Given the description of an element on the screen output the (x, y) to click on. 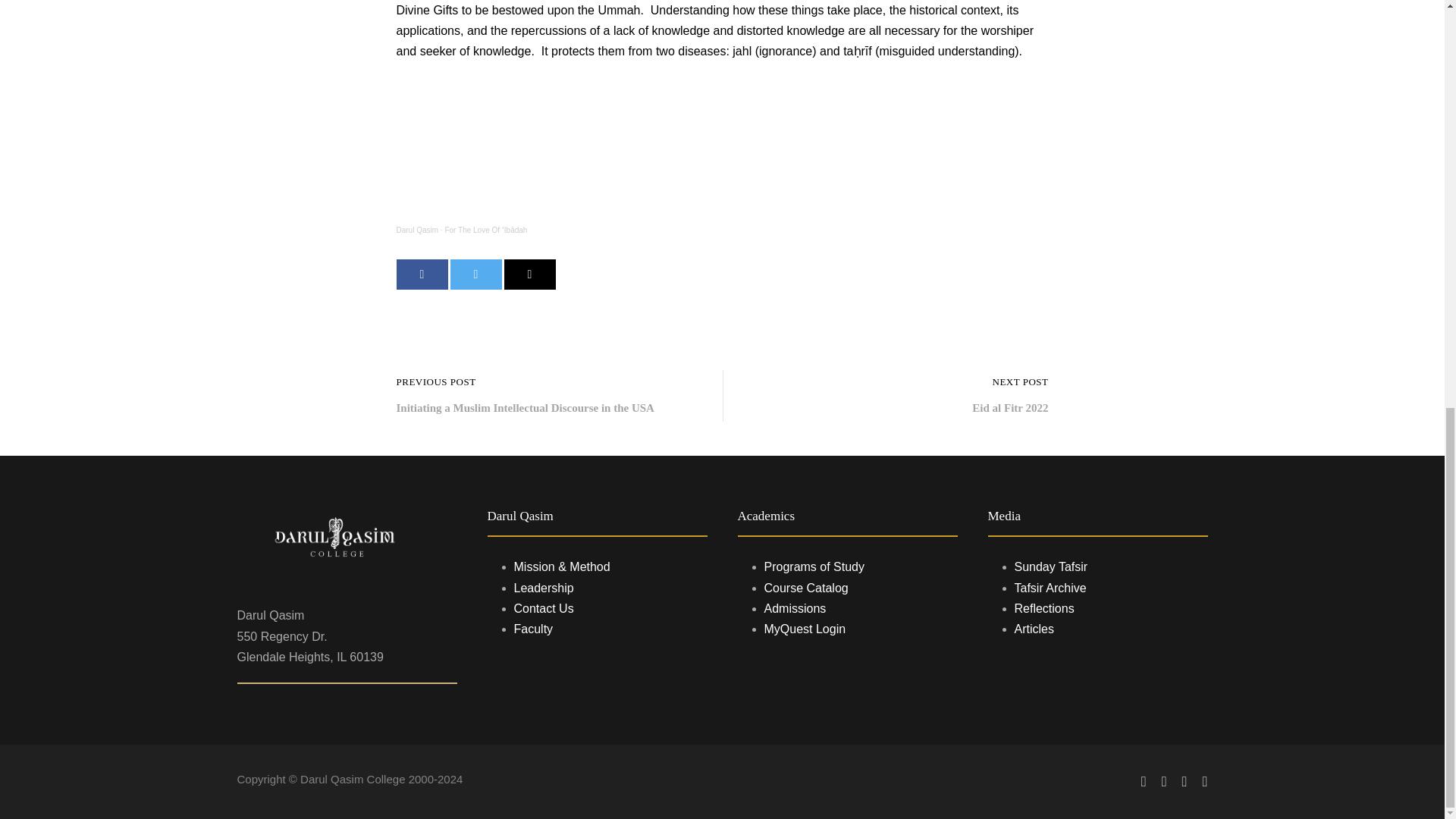
Darul Qasim (417, 230)
